Given the description of an element on the screen output the (x, y) to click on. 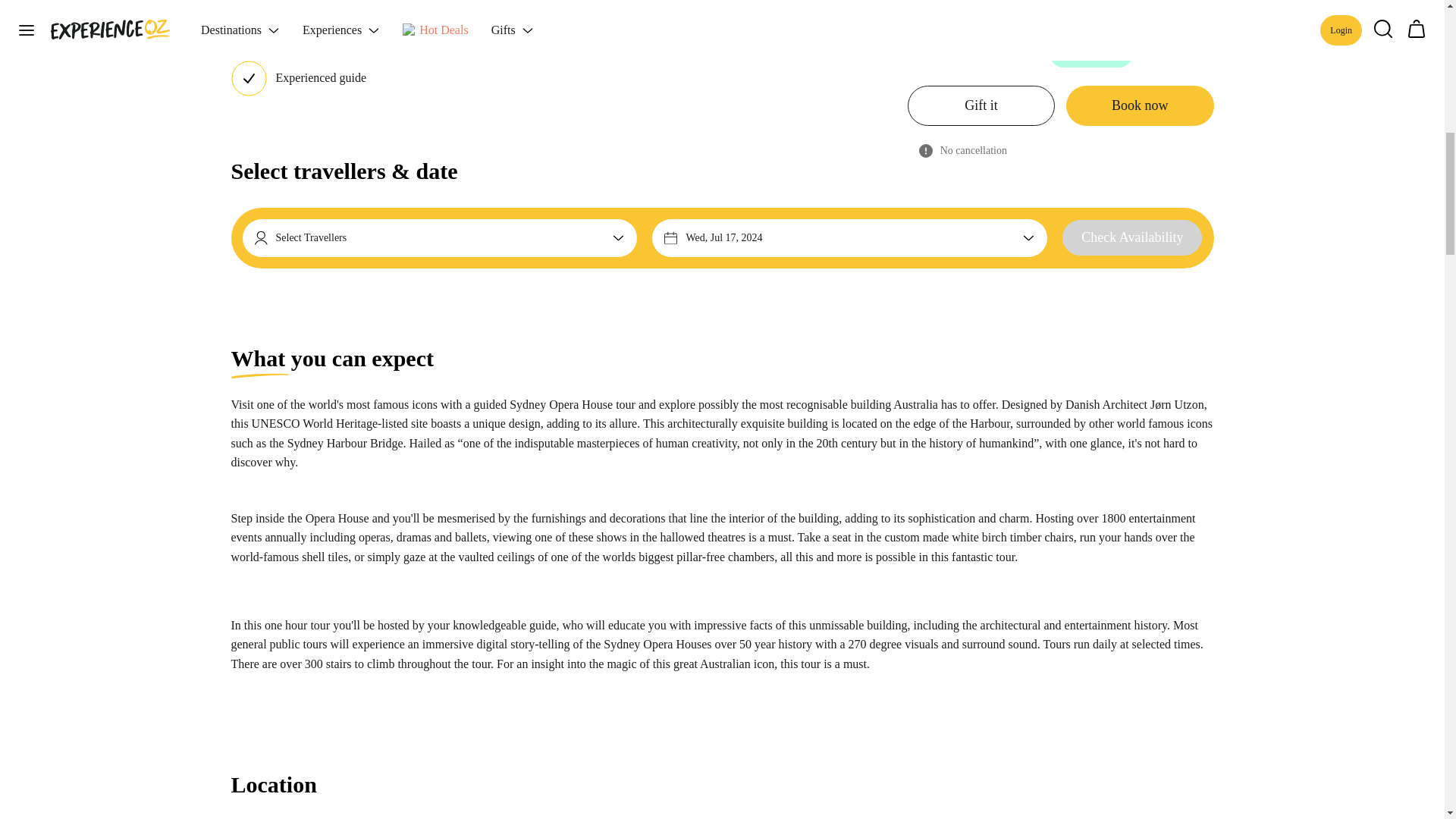
Check Availability (1132, 238)
